Given the description of an element on the screen output the (x, y) to click on. 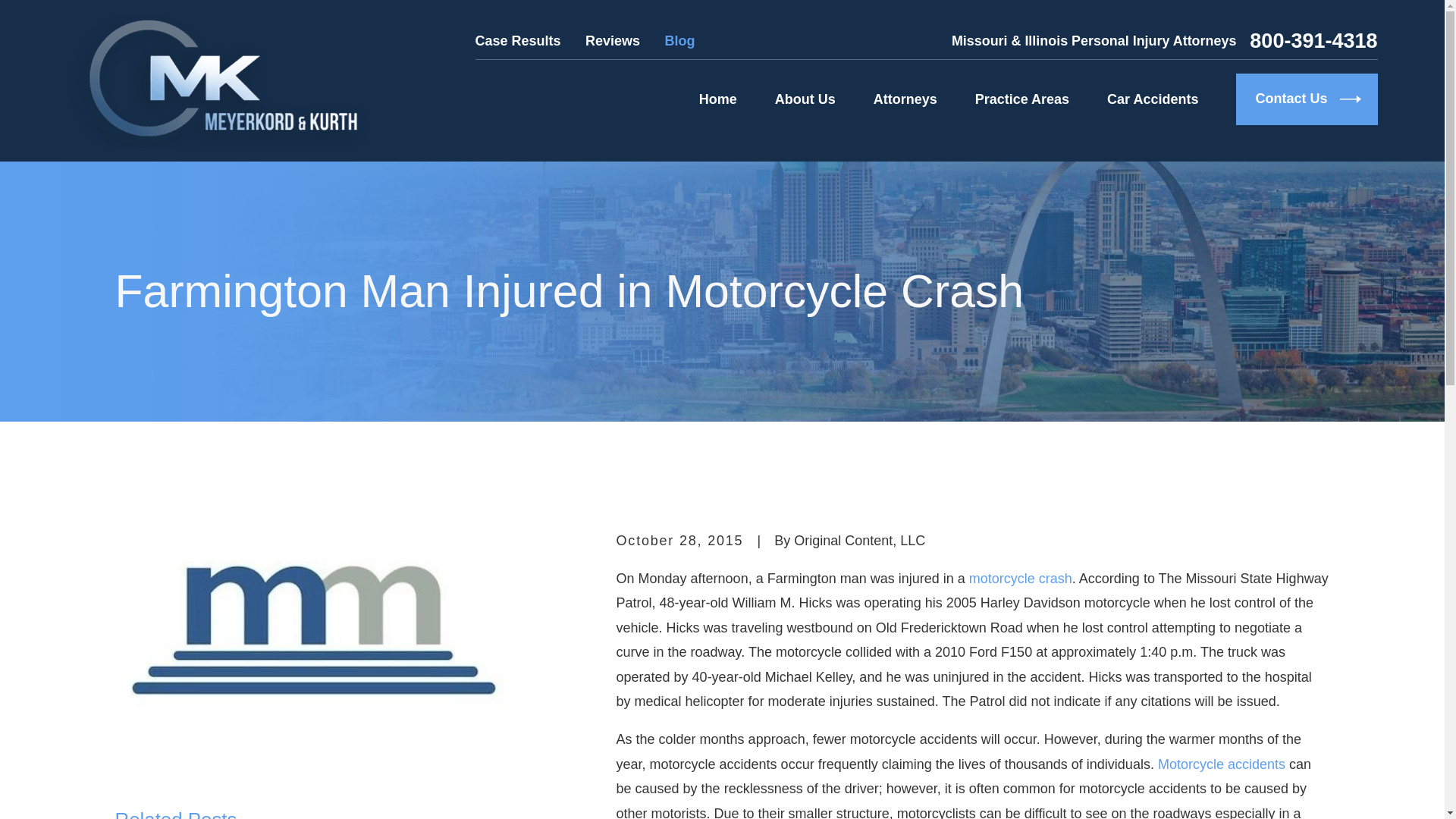
Reviews (612, 40)
Attorneys (905, 99)
Practice Areas (1021, 99)
Home (217, 80)
Case Results (518, 40)
About Us (804, 99)
Blog (678, 40)
Car Accidents (1152, 99)
800-391-4318 (1313, 41)
